Given the description of an element on the screen output the (x, y) to click on. 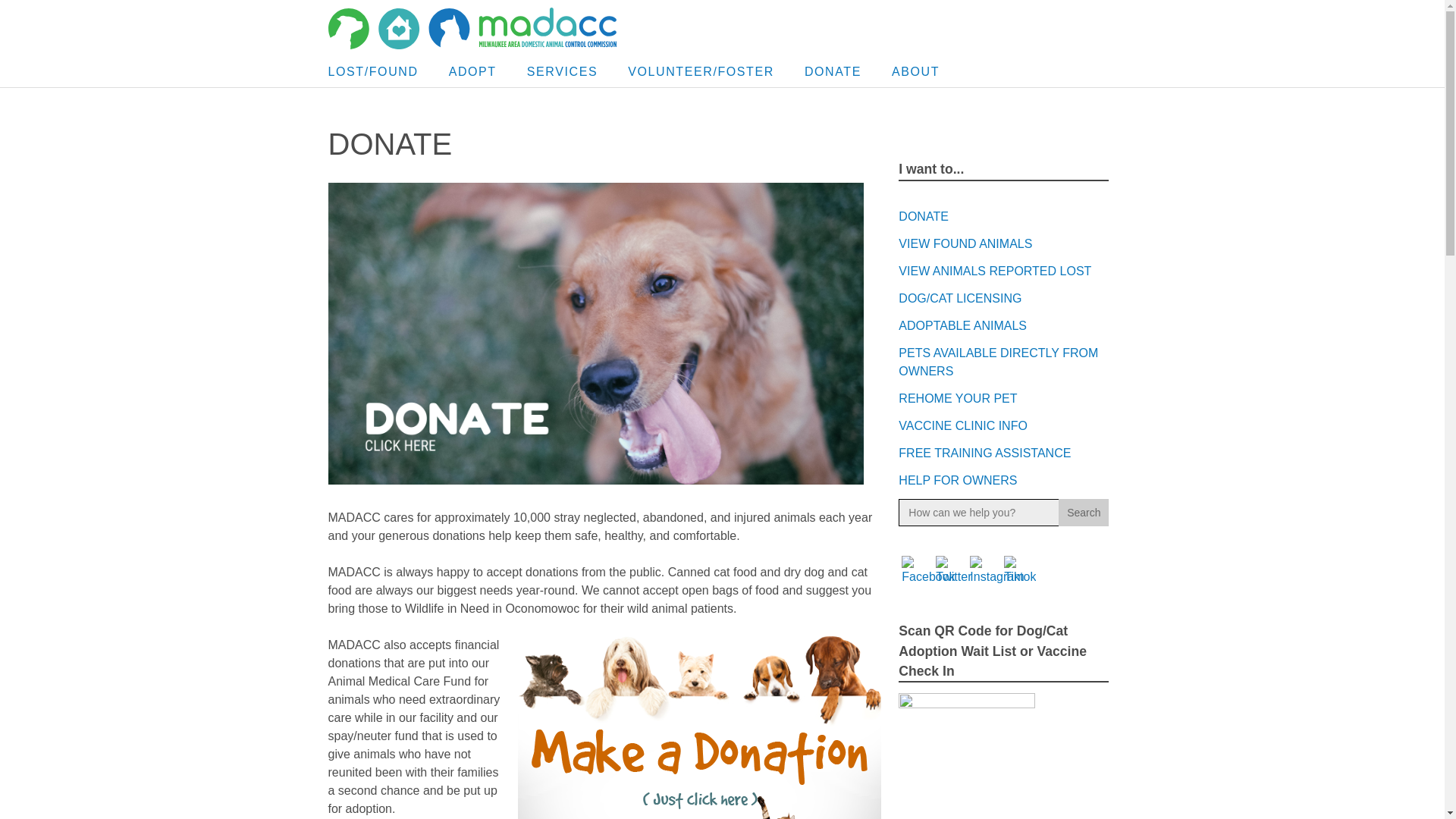
PETS AVAILABLE DIRECTLY FROM OWNERS (997, 361)
FREE TRAINING ASSISTANCE (984, 452)
ABOUT (915, 71)
Search (1083, 512)
Tiktok (1019, 571)
Search (1083, 512)
VIEW ANIMALS REPORTED LOST (994, 270)
ADOPTABLE ANIMALS (962, 325)
Twitter (953, 571)
REHOME YOUR PET (957, 398)
